Given the description of an element on the screen output the (x, y) to click on. 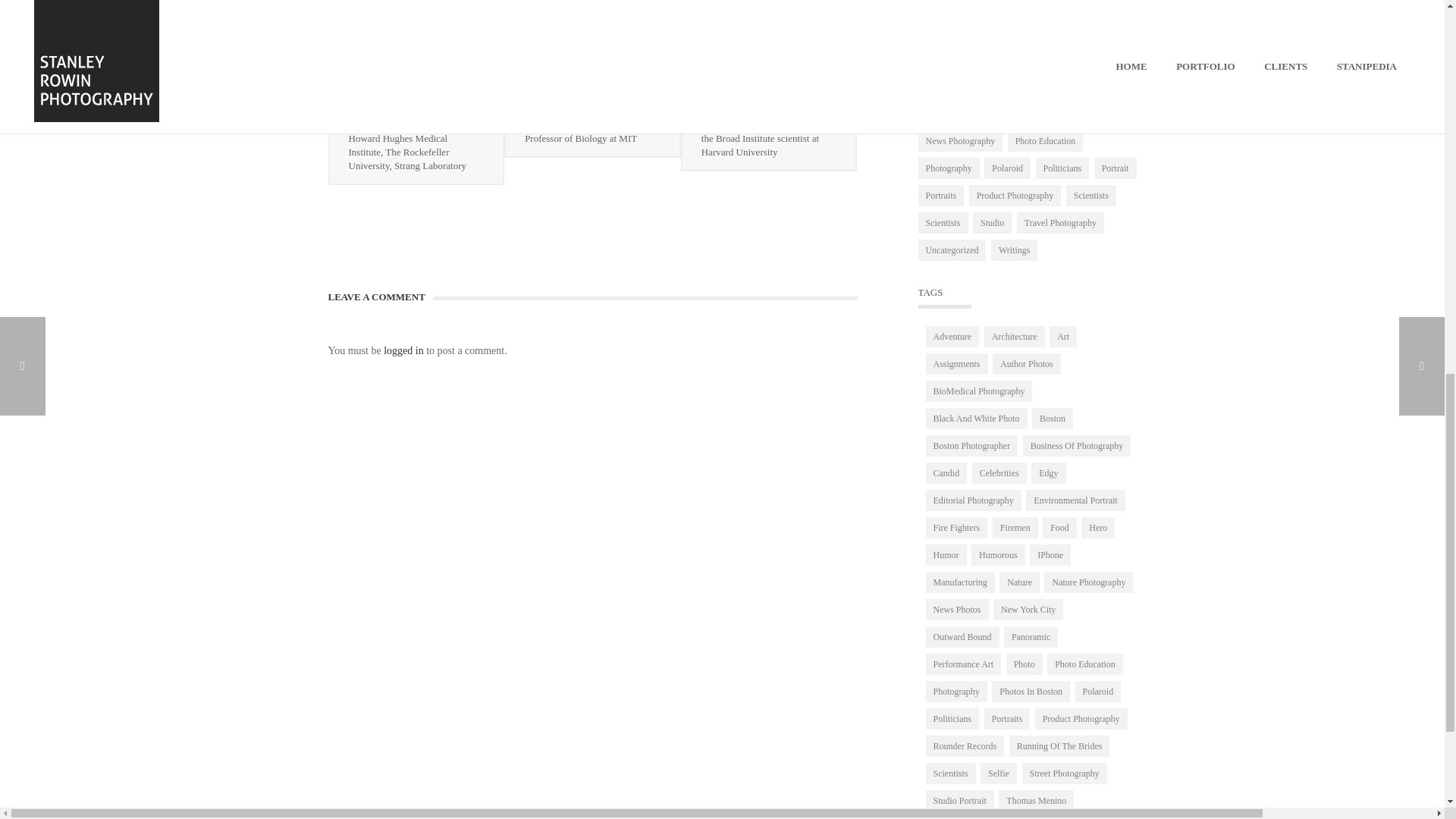
assignments (361, 2)
improper cell phone use (677, 2)
humorous (606, 2)
convertible car (505, 2)
Boston Photographer (431, 2)
fax (545, 2)
humor (569, 2)
mobile phone (754, 2)
